Given the description of an element on the screen output the (x, y) to click on. 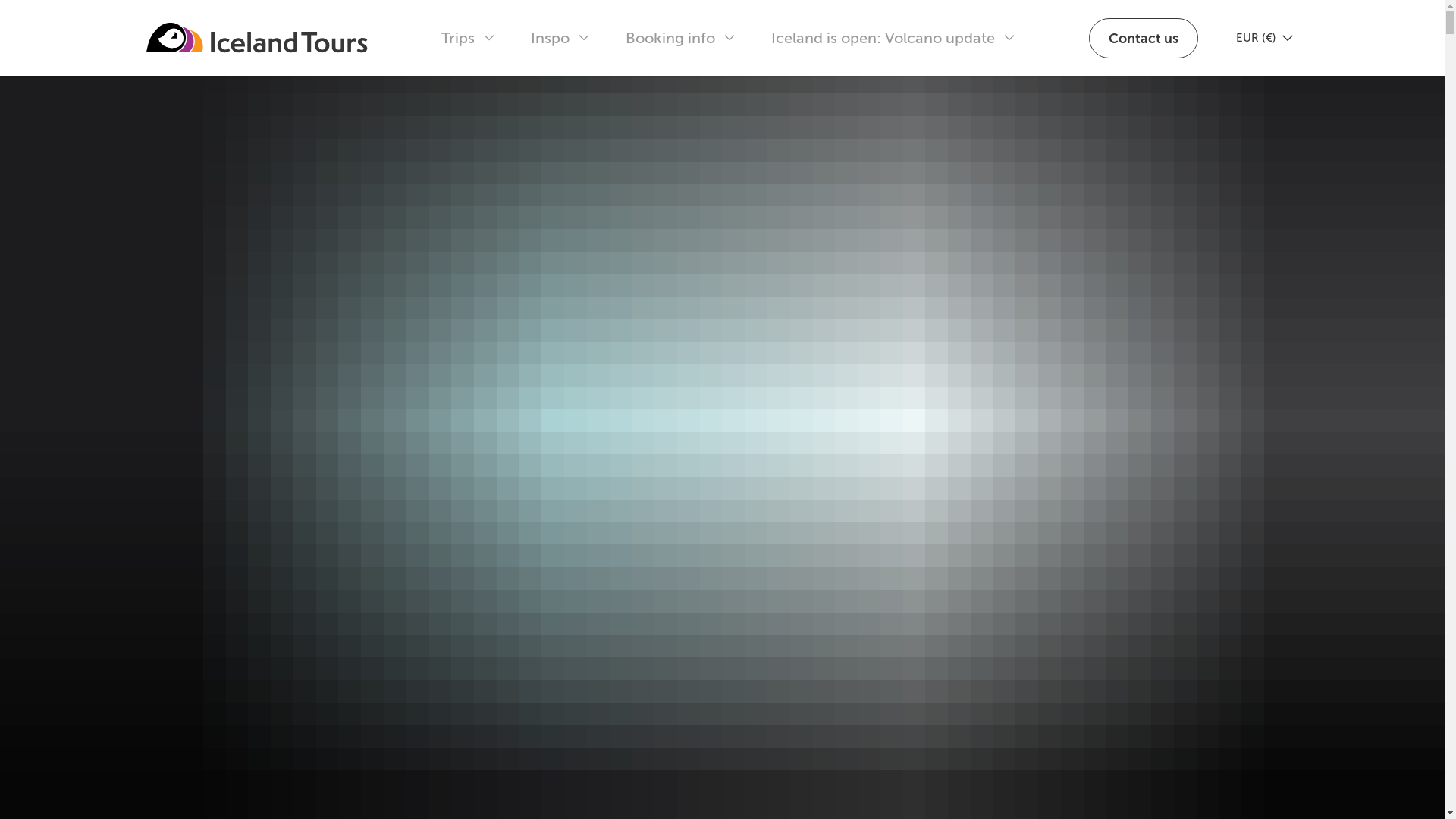
Trips (467, 38)
Booking info (679, 38)
Contact us (1143, 38)
Inspo (559, 38)
Iceland Tours (255, 38)
